Given the description of an element on the screen output the (x, y) to click on. 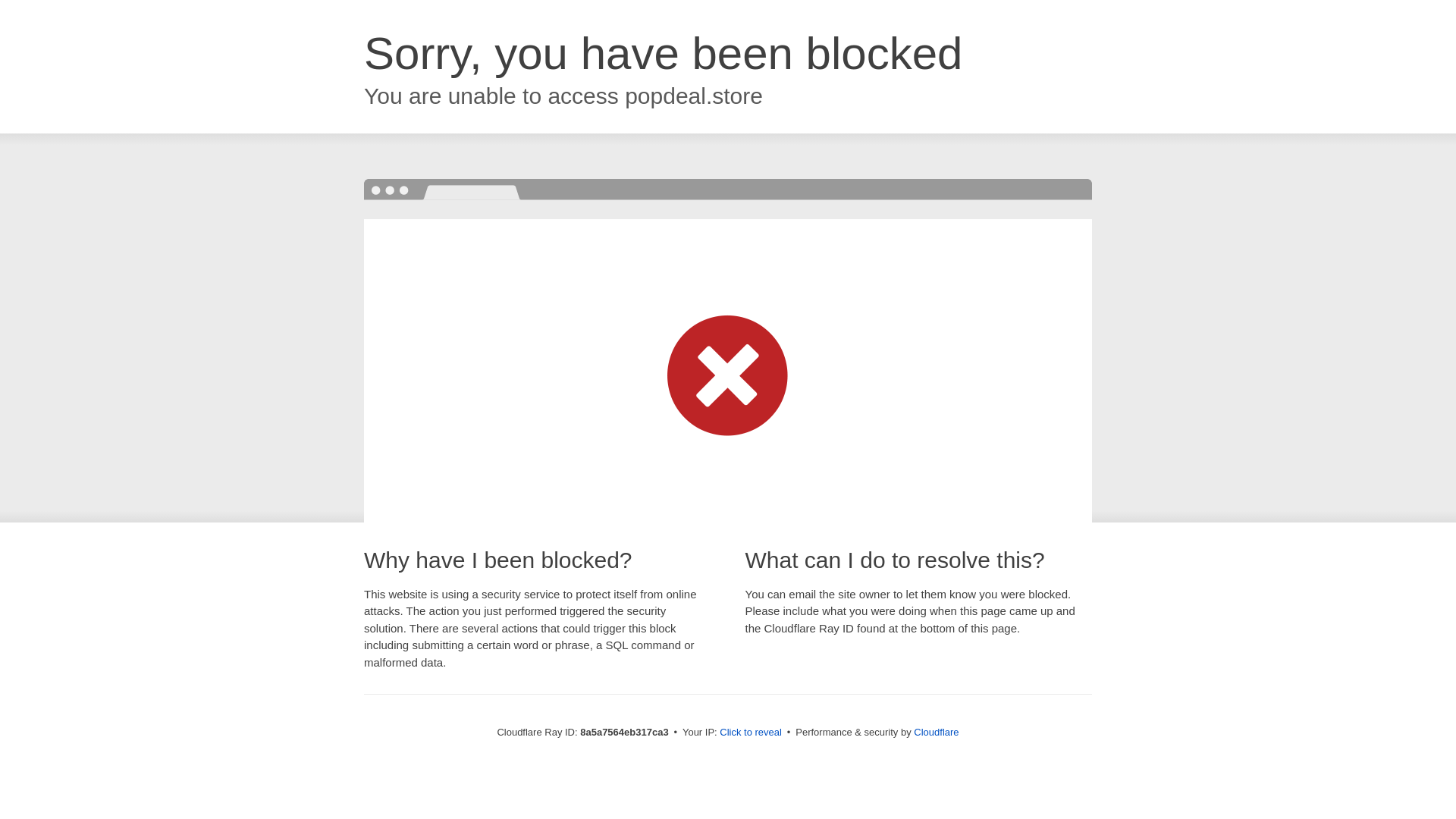
Cloudflare (936, 731)
Click to reveal (750, 732)
